Given the description of an element on the screen output the (x, y) to click on. 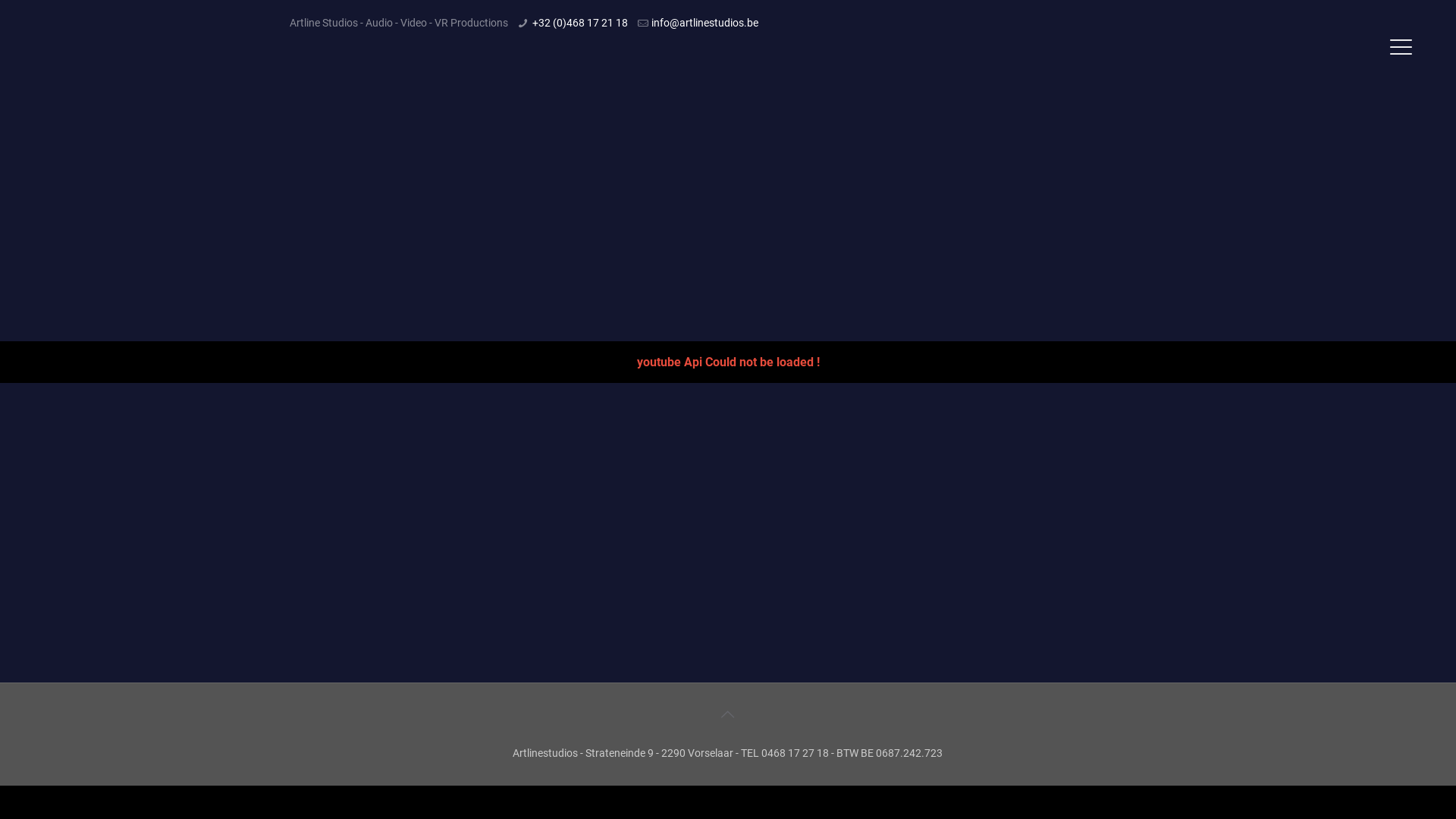
+32 (0)468 17 21 18 Element type: text (579, 22)
info@artlinestudios.be Element type: text (704, 22)
artlinestudios Element type: hover (293, 80)
